Given the description of an element on the screen output the (x, y) to click on. 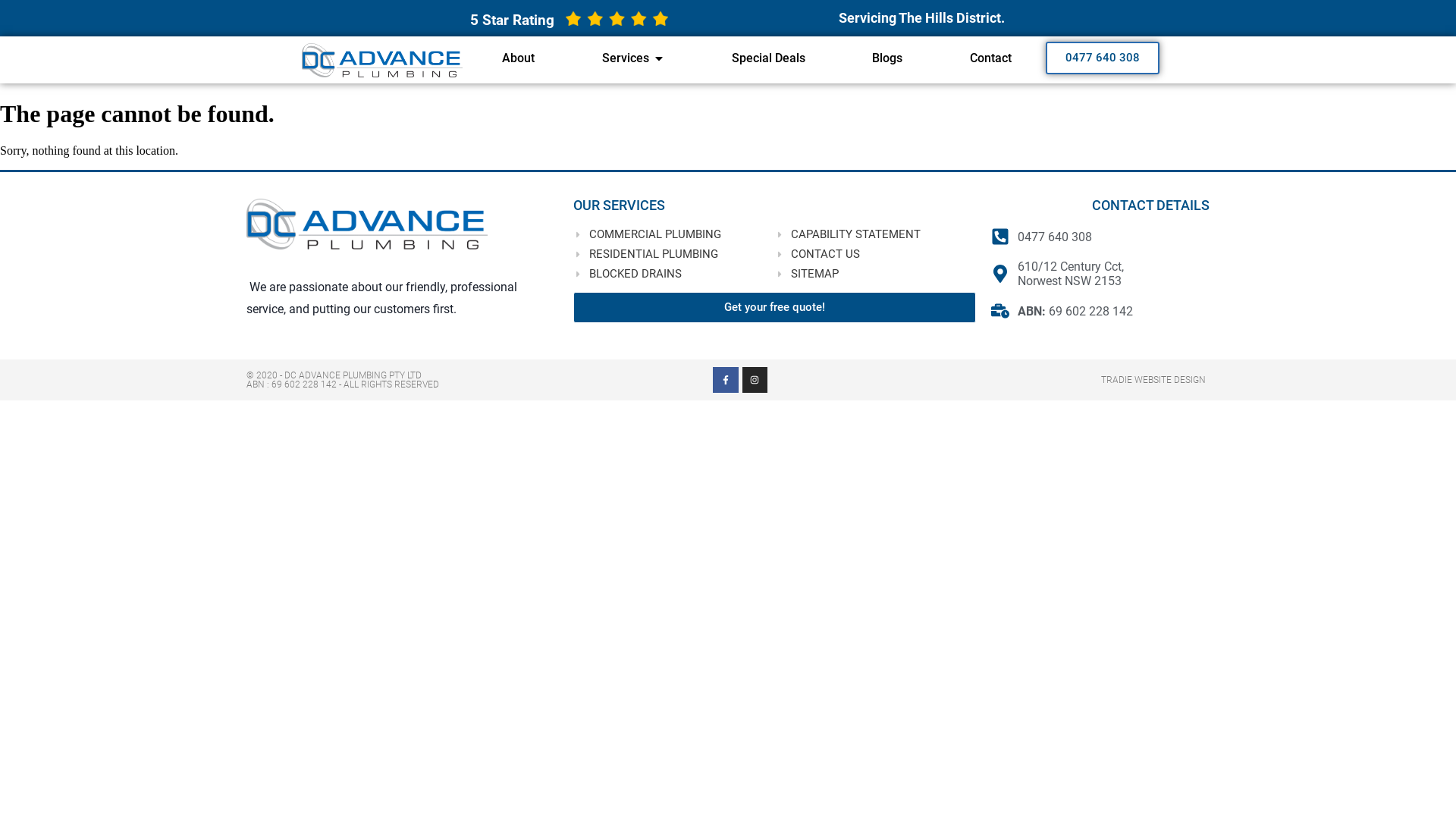
TRADIE WEBSITE DESIGN Element type: text (1153, 379)
COMMERCIAL PLUMBING Element type: text (674, 234)
Blogs Element type: text (887, 57)
About Element type: text (518, 57)
SITEMAP Element type: text (875, 273)
Contact Element type: text (990, 57)
Services Element type: text (625, 57)
0477 640 308 Element type: text (1100, 236)
Get your free quote! Element type: text (774, 307)
CAPABILITY STATEMENT Element type: text (875, 234)
CONTACT US Element type: text (875, 253)
BLOCKED DRAINS Element type: text (674, 273)
0477 640 308 Element type: text (1102, 57)
Special Deals Element type: text (768, 57)
RESIDENTIAL PLUMBING Element type: text (674, 253)
